Given the description of an element on the screen output the (x, y) to click on. 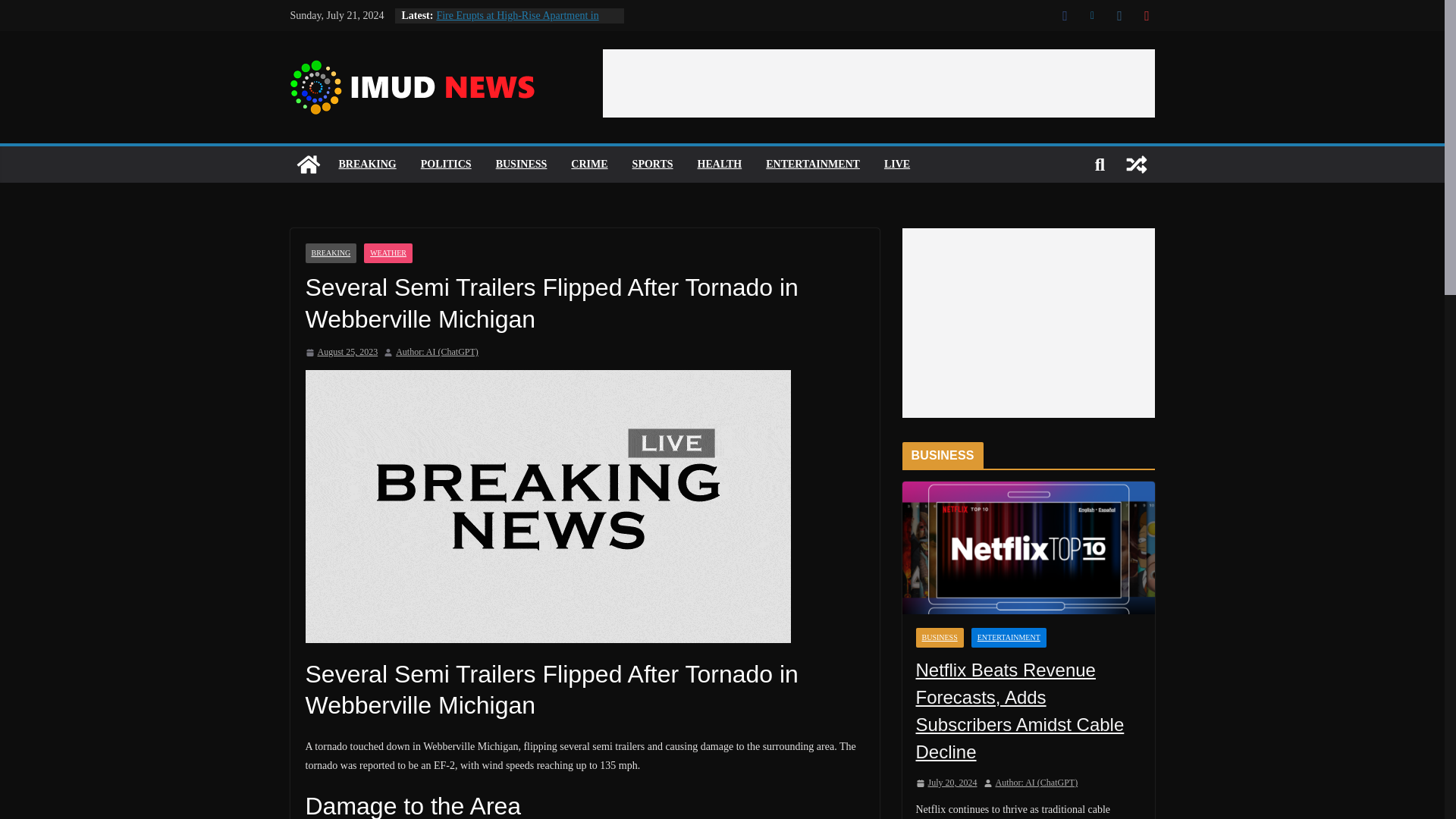
BUSINESS (521, 164)
CRIME (588, 164)
Fire Erupts at High-Rise Apartment in Downtown Seattle (516, 22)
Advertisement (878, 83)
WEATHER (388, 252)
IMUD News (307, 164)
View a random post (1136, 164)
LIVE (896, 164)
August 25, 2023 (340, 352)
5:14 am (340, 352)
BREAKING (330, 252)
ENTERTAINMENT (812, 164)
POLITICS (445, 164)
SPORTS (651, 164)
Fire Erupts at High-Rise Apartment in Downtown Seattle (516, 22)
